Given the description of an element on the screen output the (x, y) to click on. 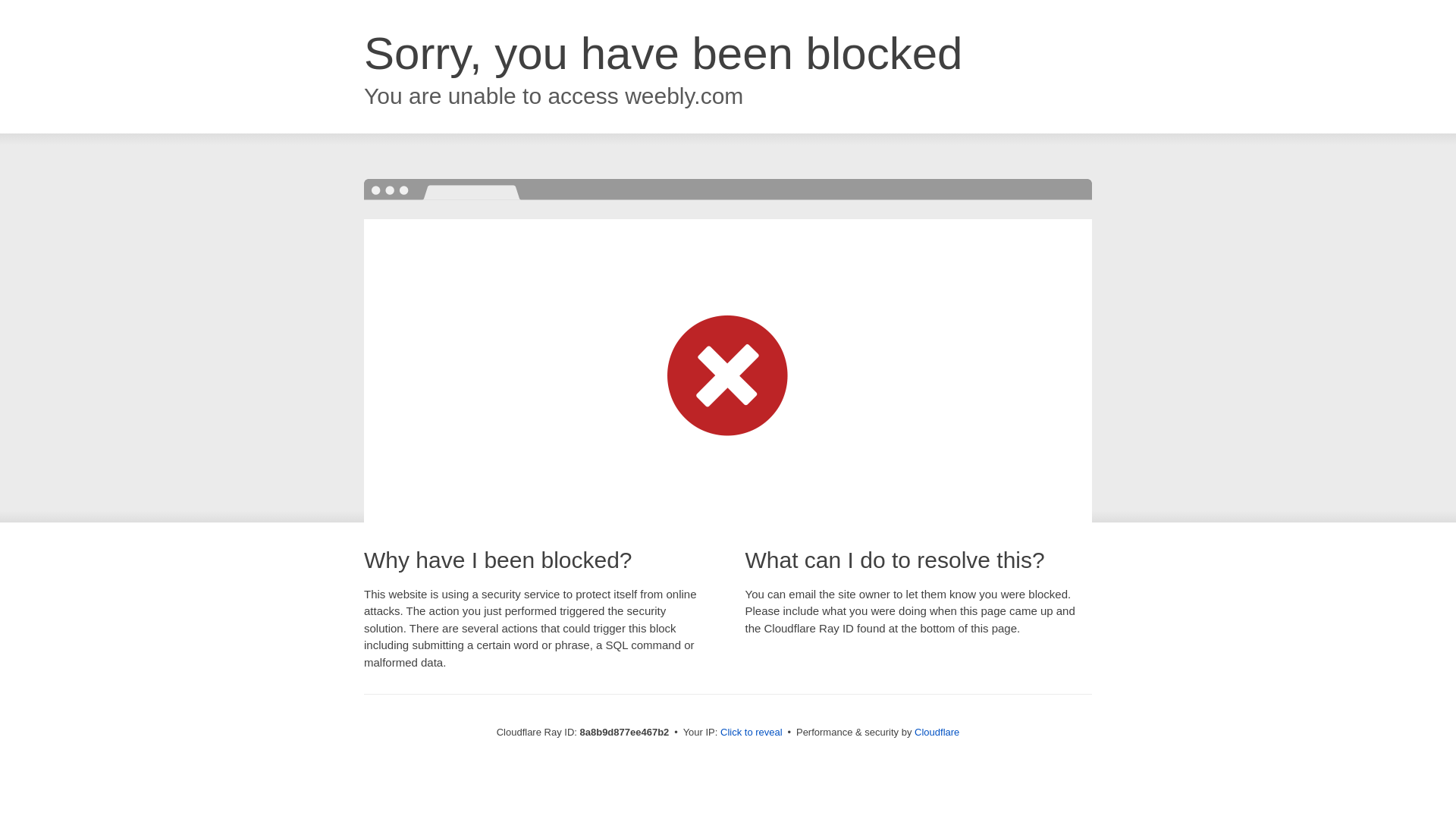
Click to reveal (751, 732)
Cloudflare (936, 731)
